Given the description of an element on the screen output the (x, y) to click on. 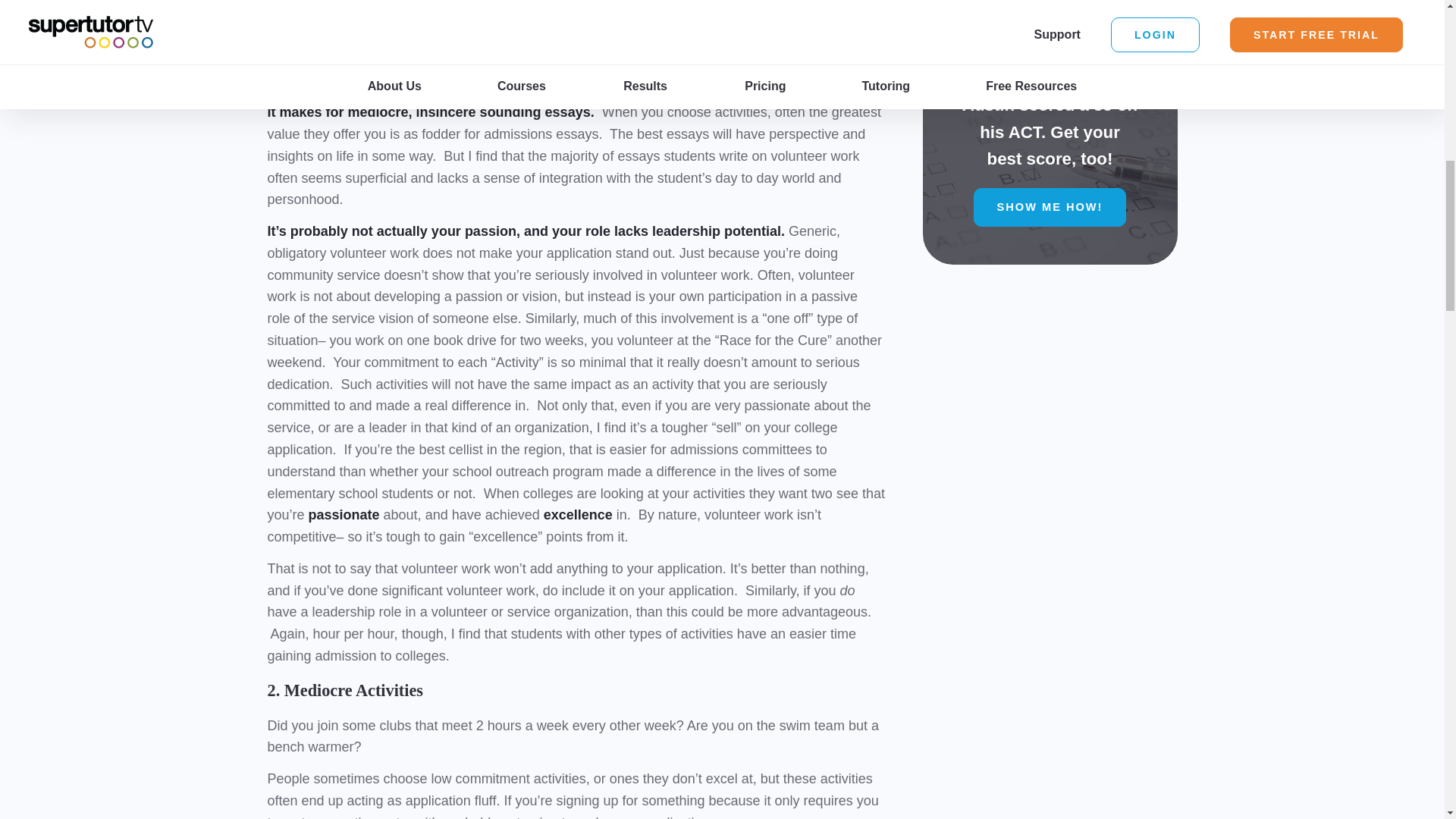
SHOW ME HOW! (1050, 207)
